Given the description of an element on the screen output the (x, y) to click on. 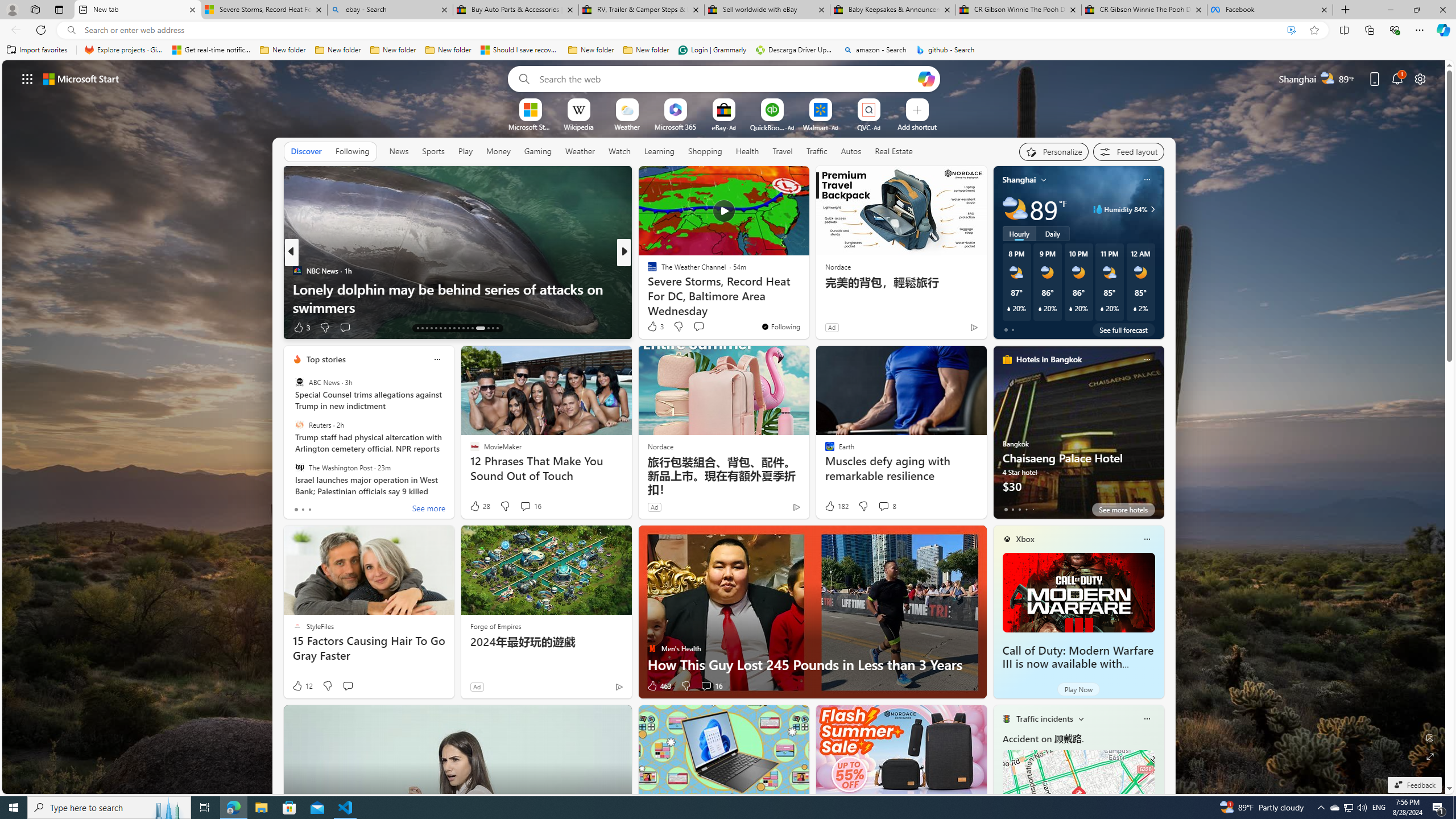
View comments 8 Comment (883, 505)
Enter your search term (726, 78)
Learning (658, 151)
View comments 16 Comment (705, 685)
AutomationID: tab-14 (422, 328)
Learning (659, 151)
ABC News (299, 382)
